Given the description of an element on the screen output the (x, y) to click on. 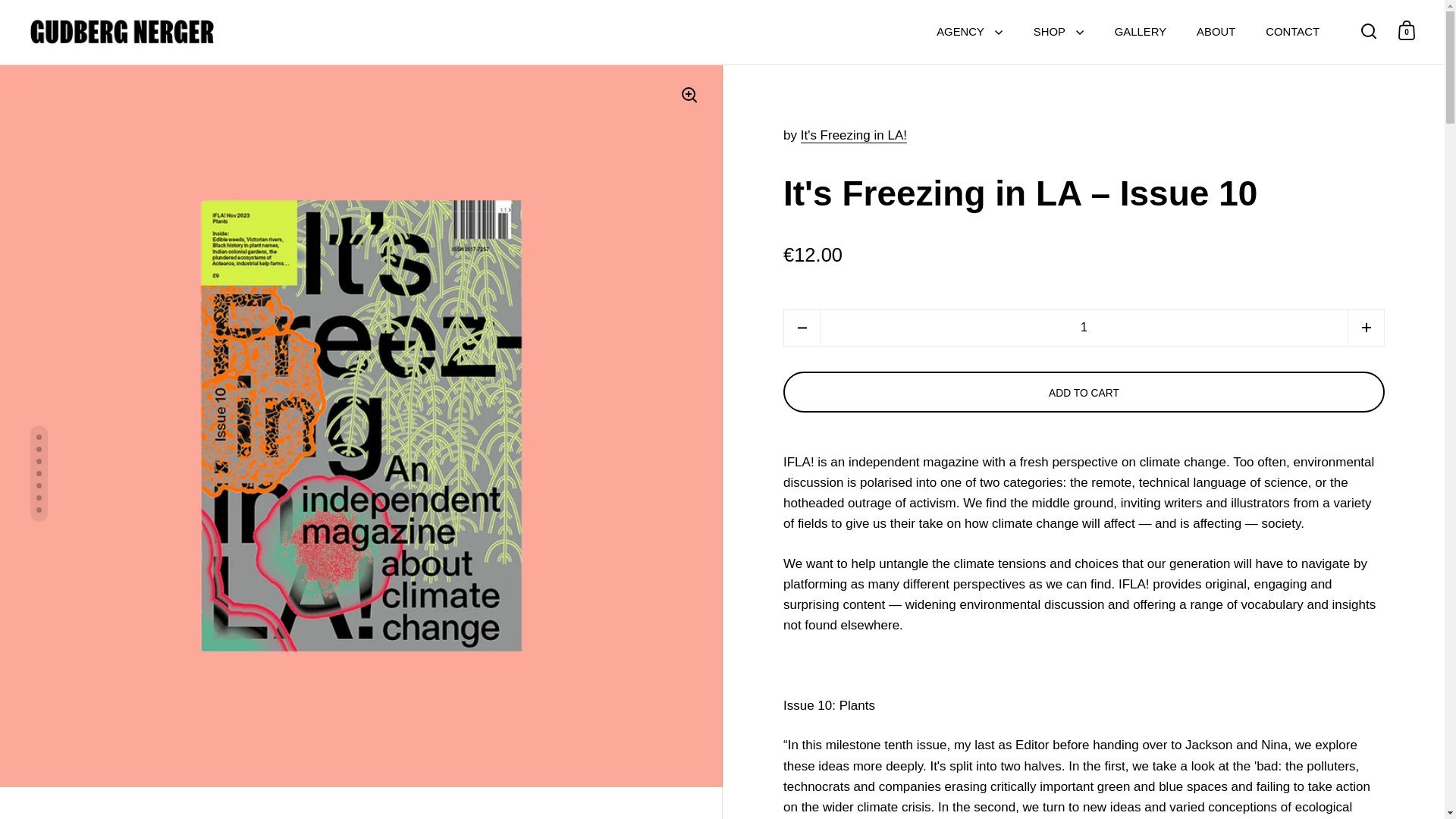
It's Freezing in LA! (853, 135)
SHOP (1058, 32)
GALLERY (1139, 32)
AGENCY (969, 32)
Open search (1369, 30)
ABOUT (1215, 32)
ADD TO CART (1083, 392)
Open cart (1406, 30)
1 (1084, 327)
